Given the description of an element on the screen output the (x, y) to click on. 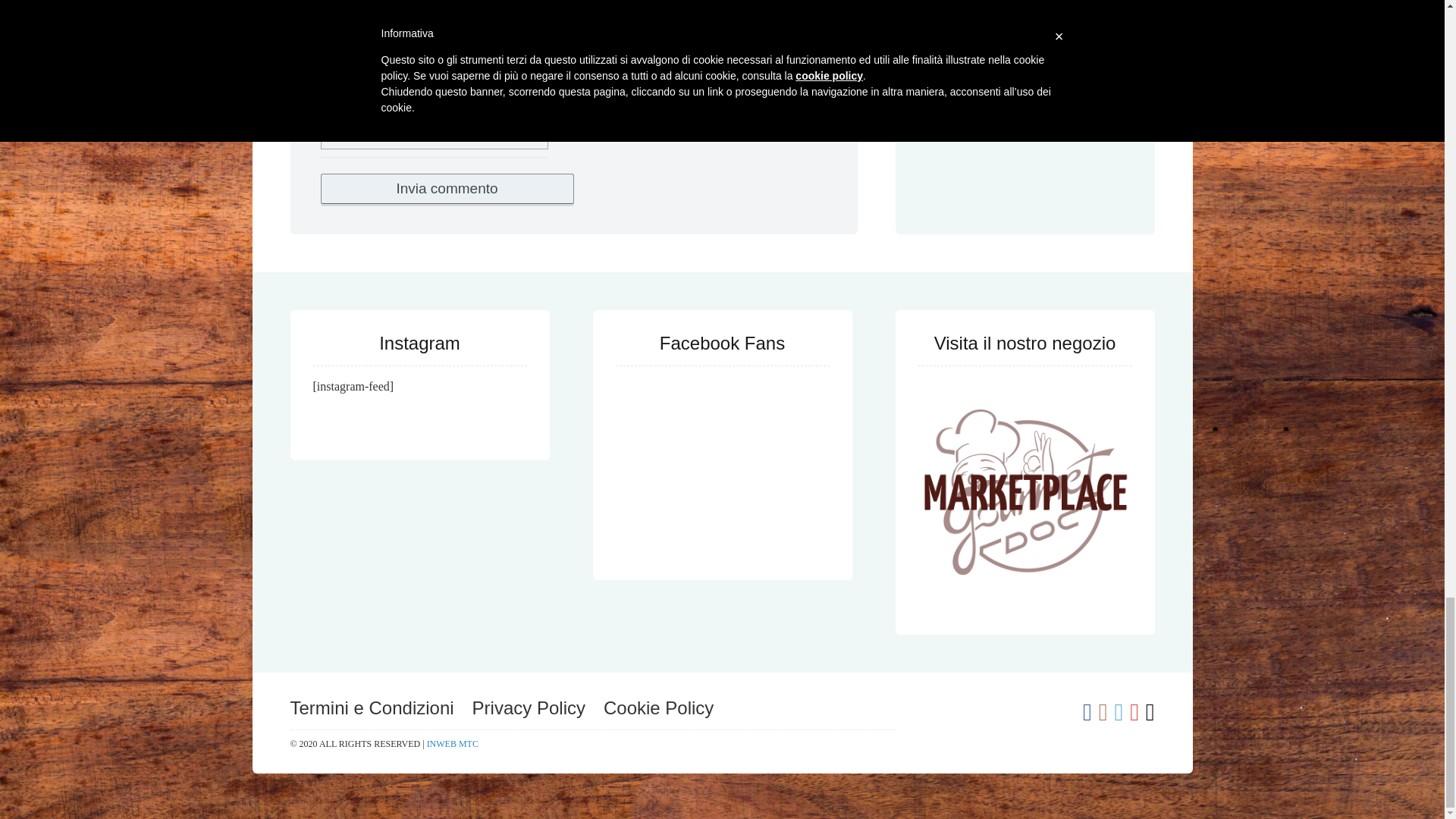
Invia commento (446, 188)
Invia commento (446, 188)
